Given the description of an element on the screen output the (x, y) to click on. 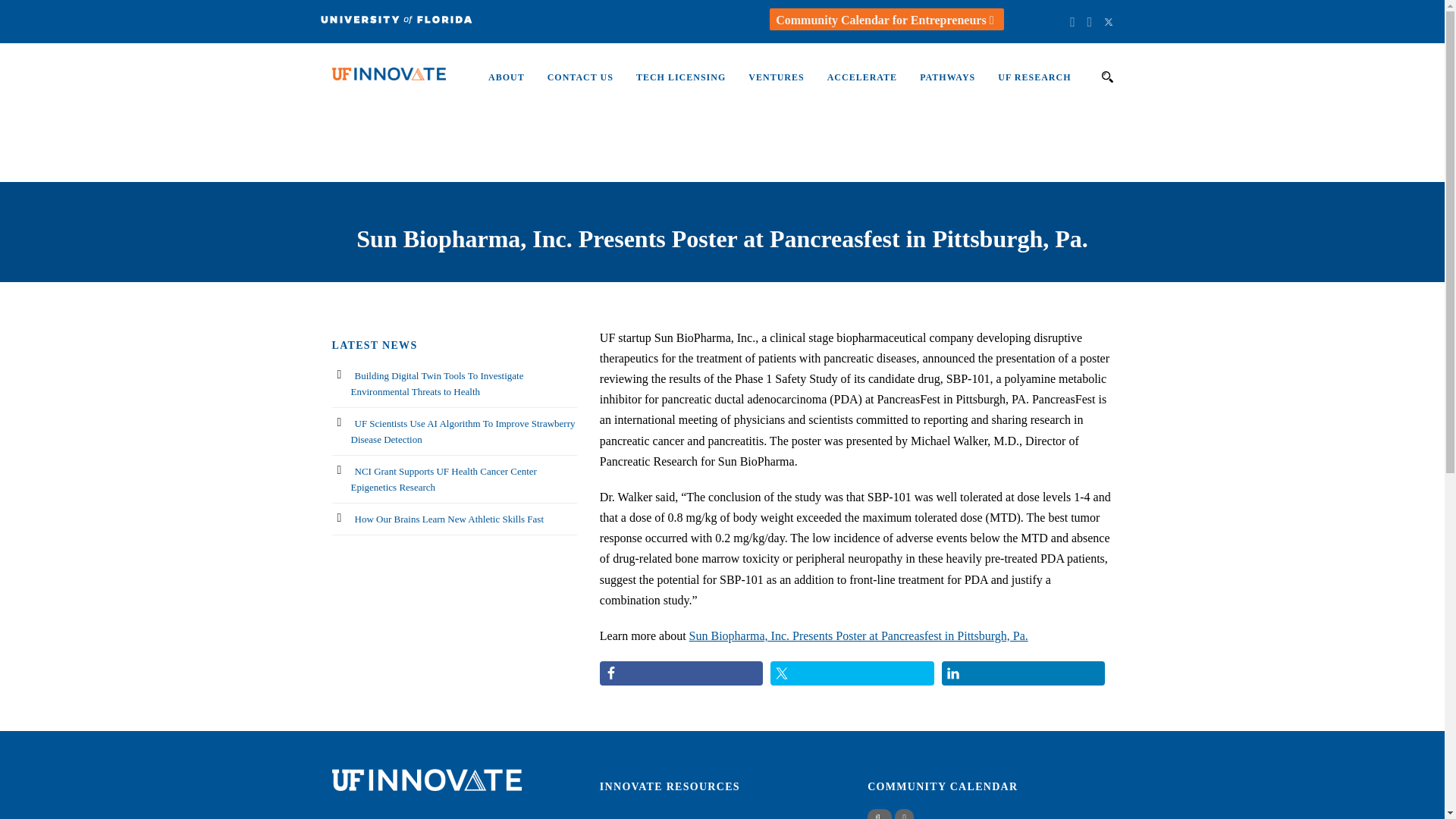
Share on Twitter (852, 672)
Community Calendar for Entrepreneurs (886, 19)
Accelerate (850, 84)
Share on LinkedIn (1023, 672)
Share on Facebook (680, 672)
